Given the description of an element on the screen output the (x, y) to click on. 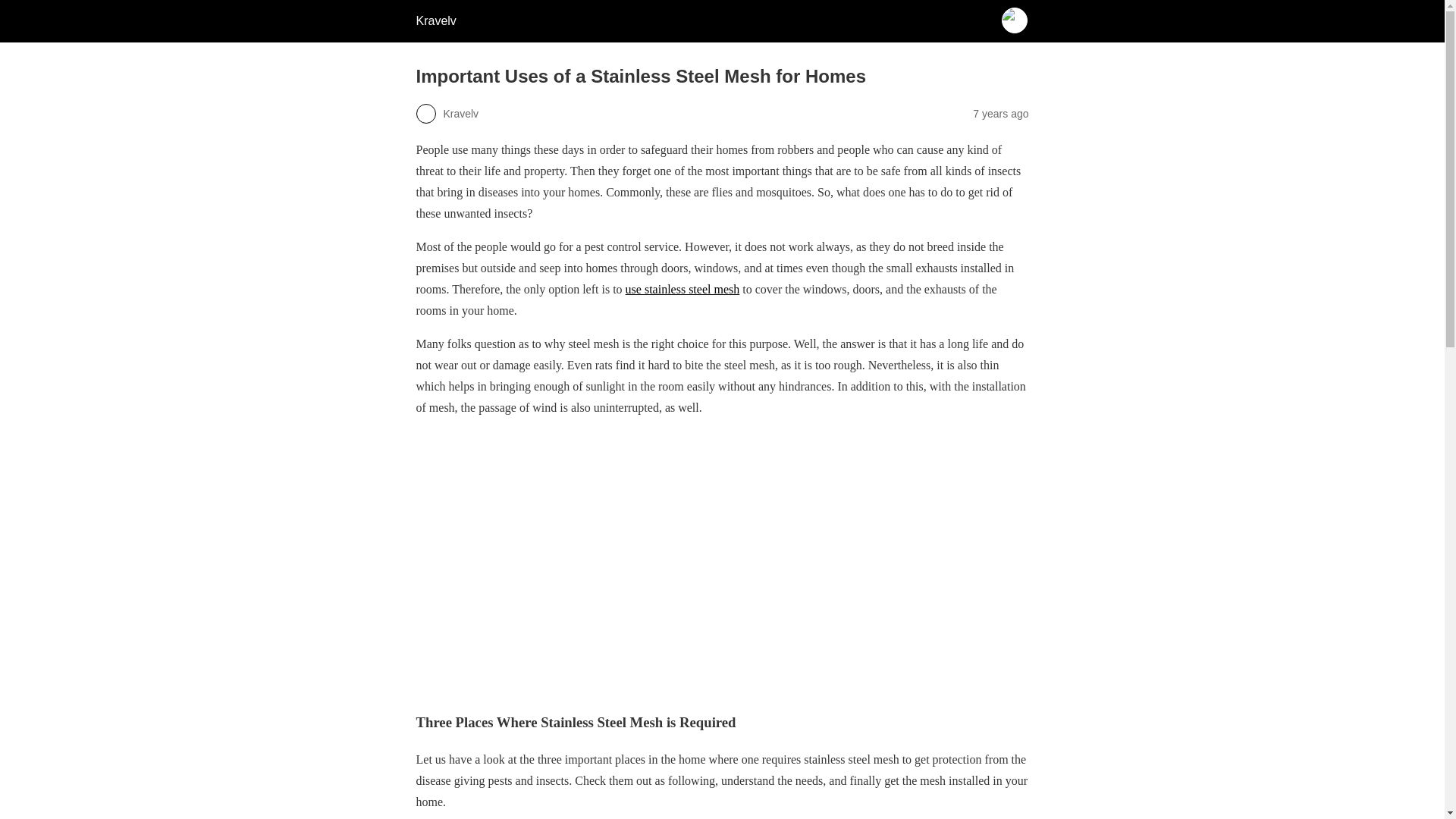
use stainless steel mesh (682, 288)
Kravelv (434, 20)
